Given the description of an element on the screen output the (x, y) to click on. 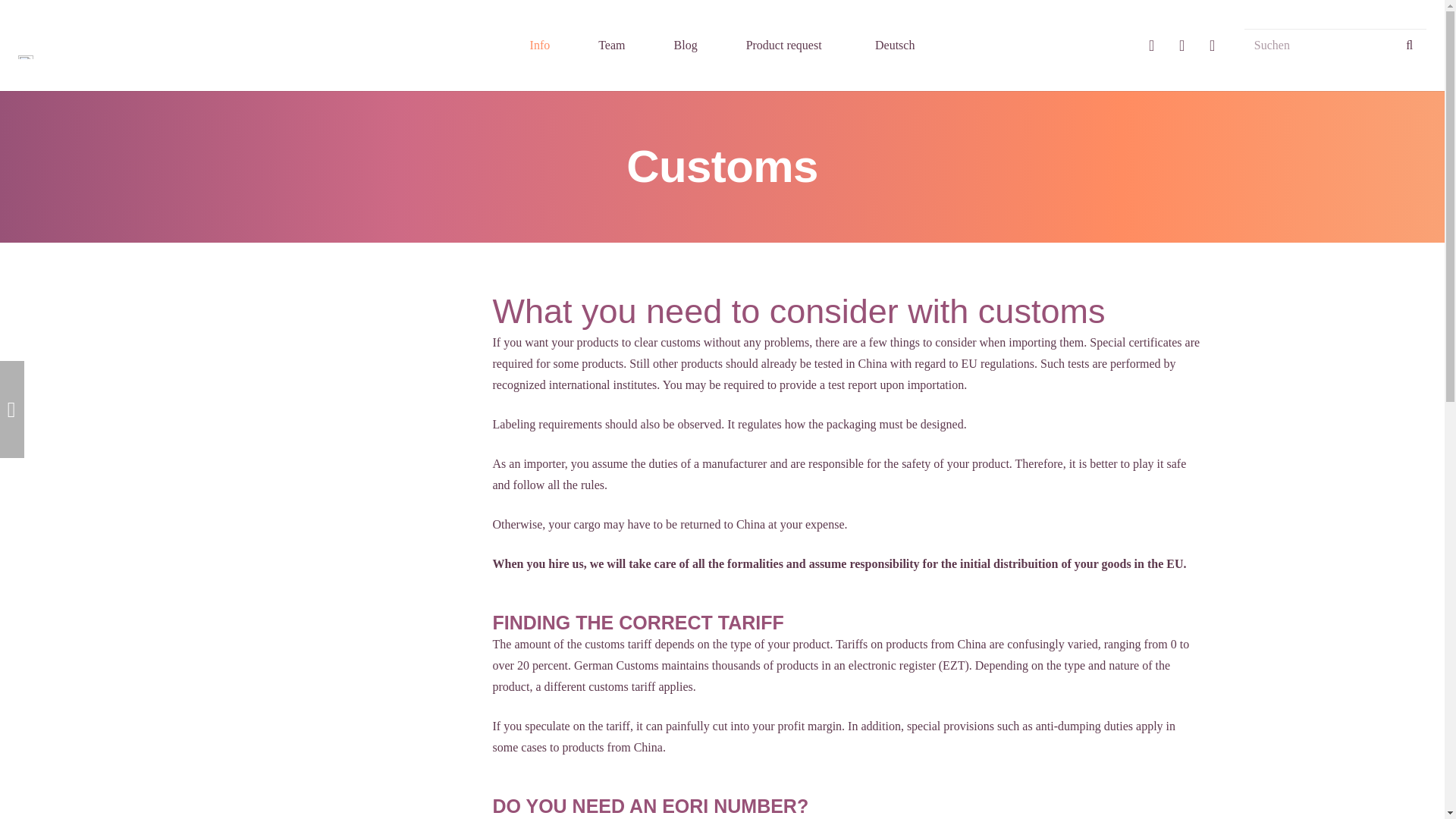
Product request (783, 45)
Deutsch (892, 45)
Deutsch (892, 45)
WhatsApp (1181, 45)
Telefon (1152, 45)
Email (1211, 45)
